Given the description of an element on the screen output the (x, y) to click on. 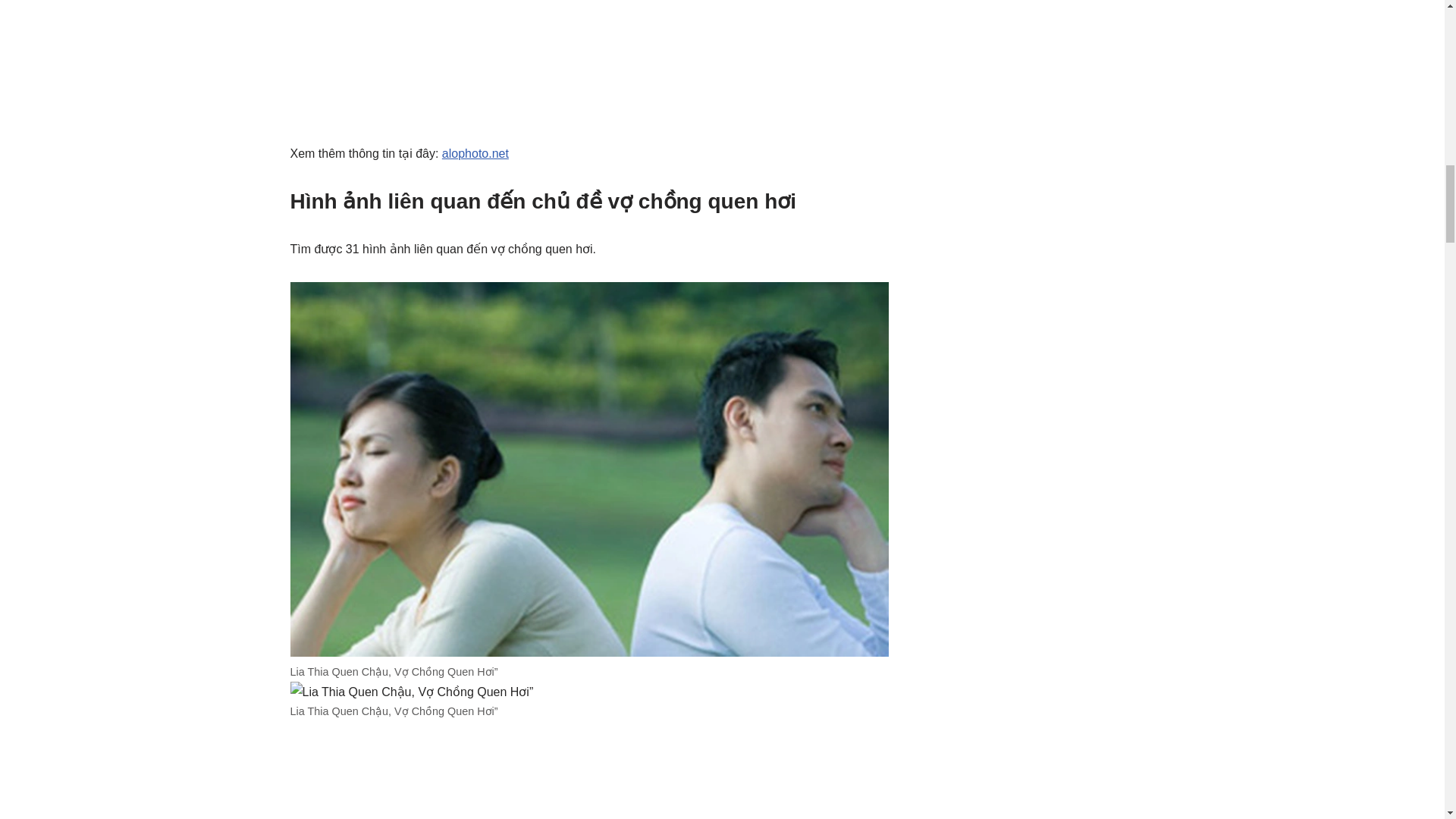
alophoto.net (475, 153)
